Given the description of an element on the screen output the (x, y) to click on. 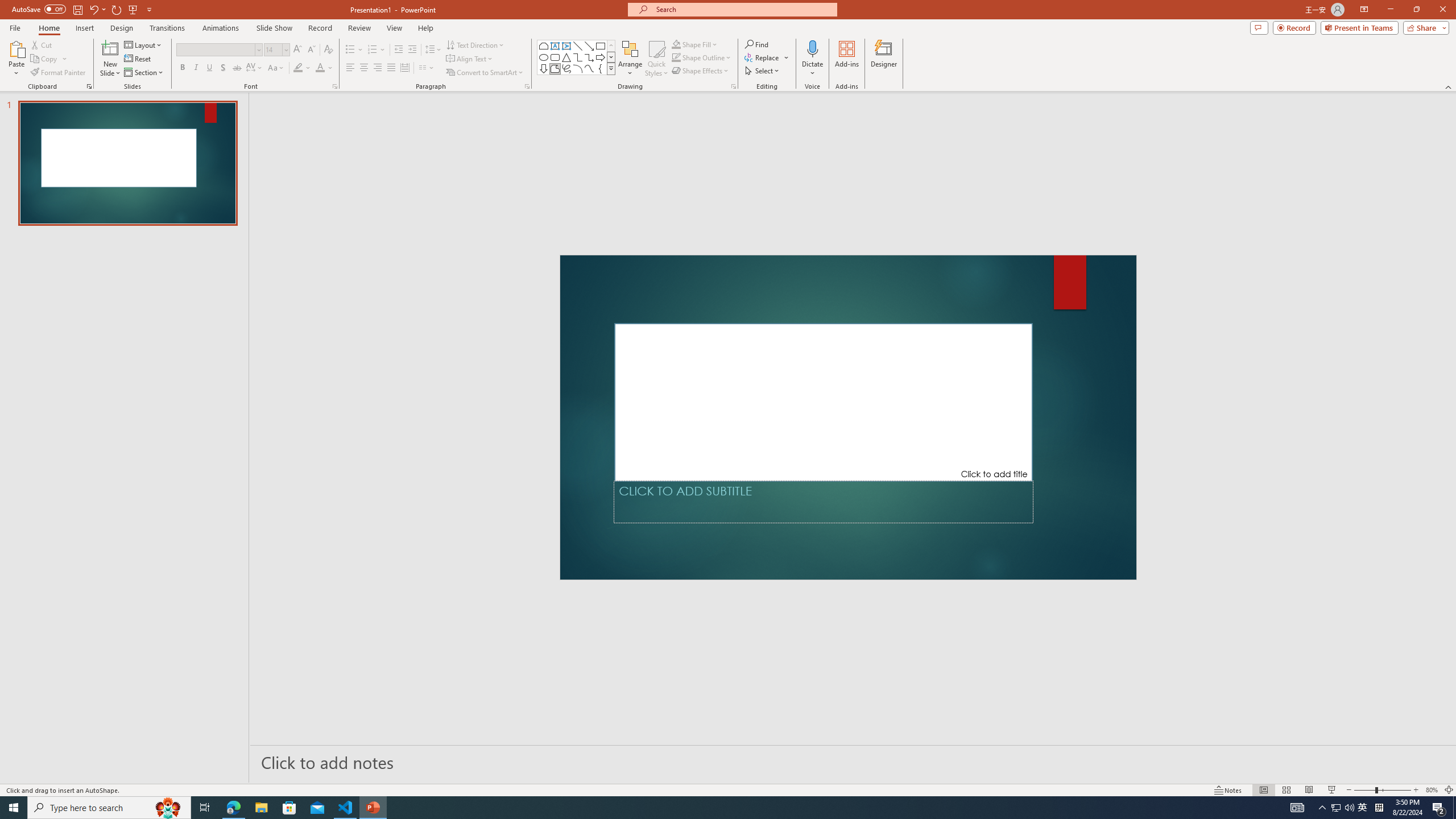
Strikethrough (237, 67)
Justify (390, 67)
Vertical Text Box (566, 45)
Title TextBox (823, 401)
Shapes (611, 68)
Line Arrow (589, 45)
Text Box (554, 45)
Text Highlight Color Yellow (297, 67)
Align Text (470, 58)
Shape Outline Blue, Accent 1 (675, 56)
Open (285, 49)
